Given the description of an element on the screen output the (x, y) to click on. 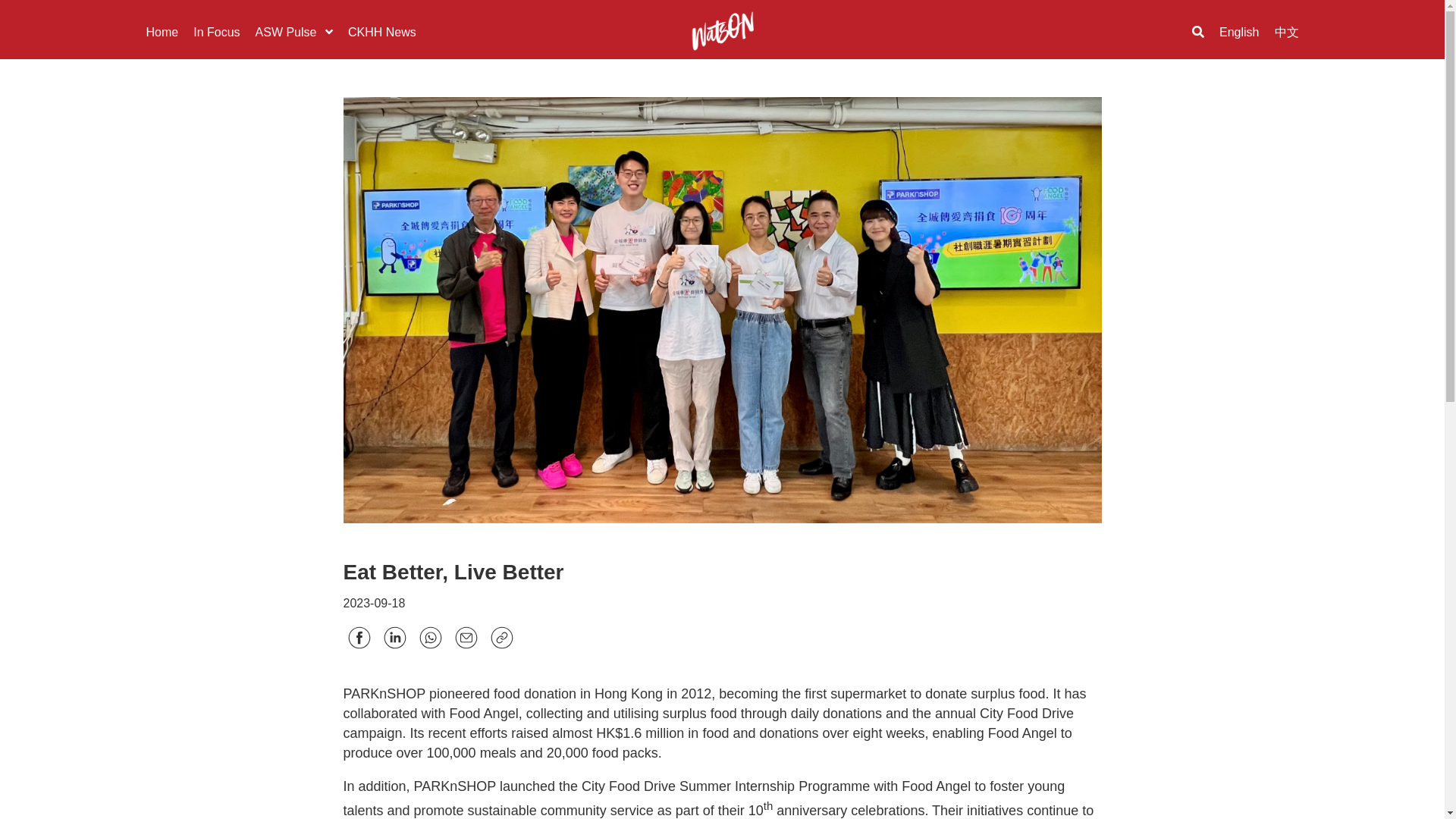
CKHH News (381, 31)
English (1239, 31)
Home (161, 31)
In Focus (216, 31)
